Given the description of an element on the screen output the (x, y) to click on. 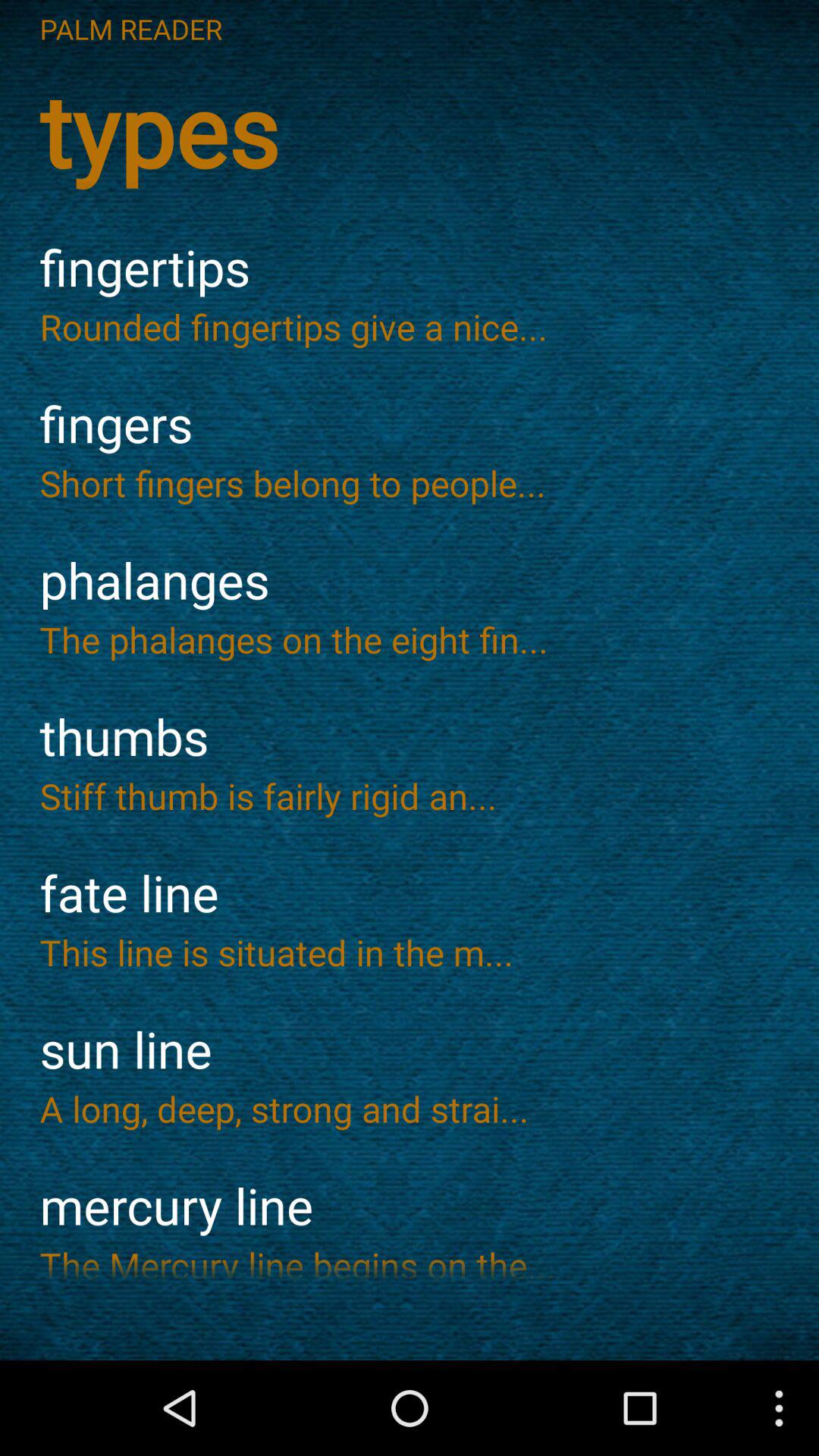
scroll to stiff thumb is (409, 795)
